Given the description of an element on the screen output the (x, y) to click on. 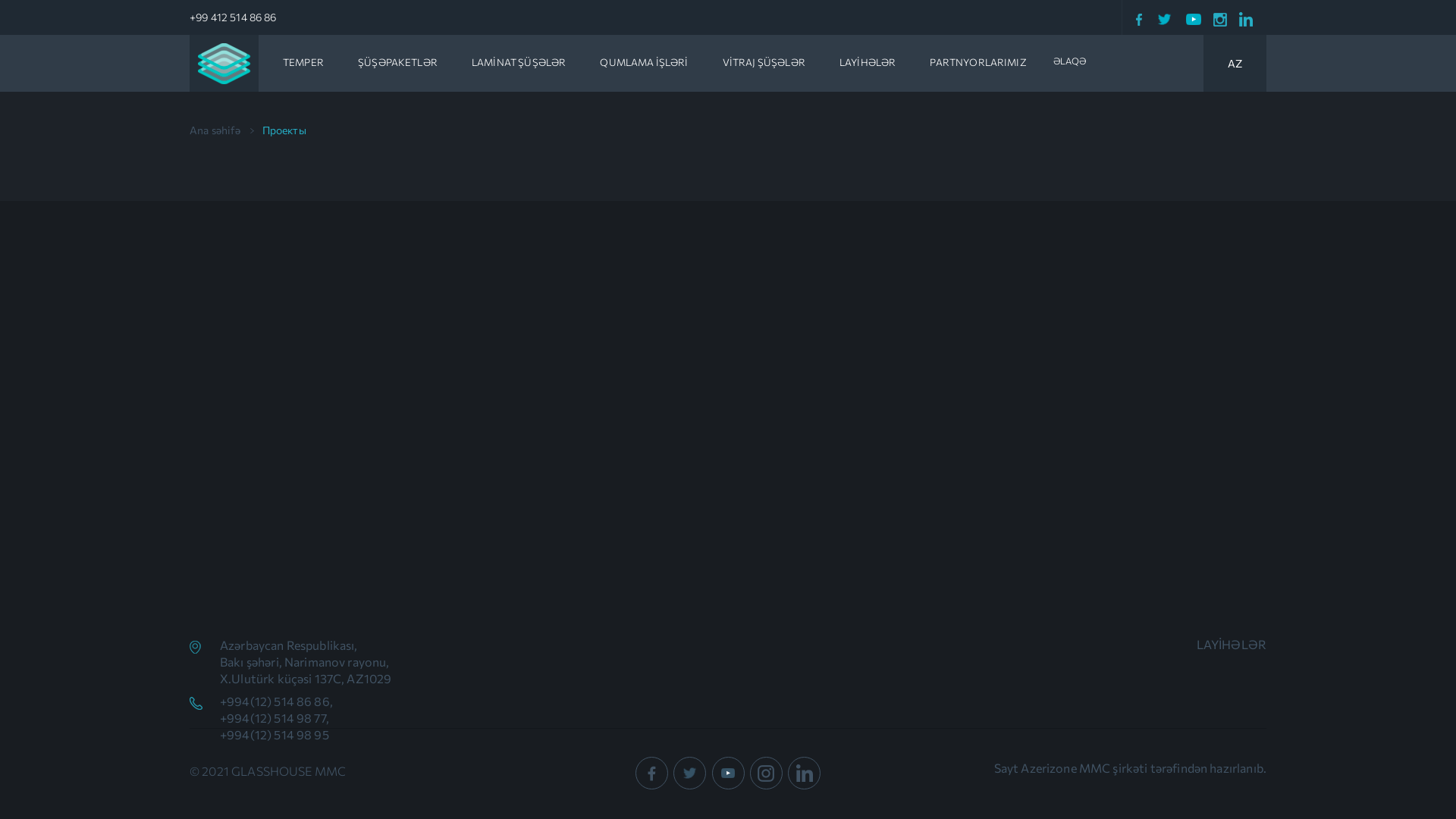
PARTNYORLARIMIZ Element type: text (977, 62)
AZ Element type: text (1234, 62)
TEMPER Element type: text (302, 62)
